Given the description of an element on the screen output the (x, y) to click on. 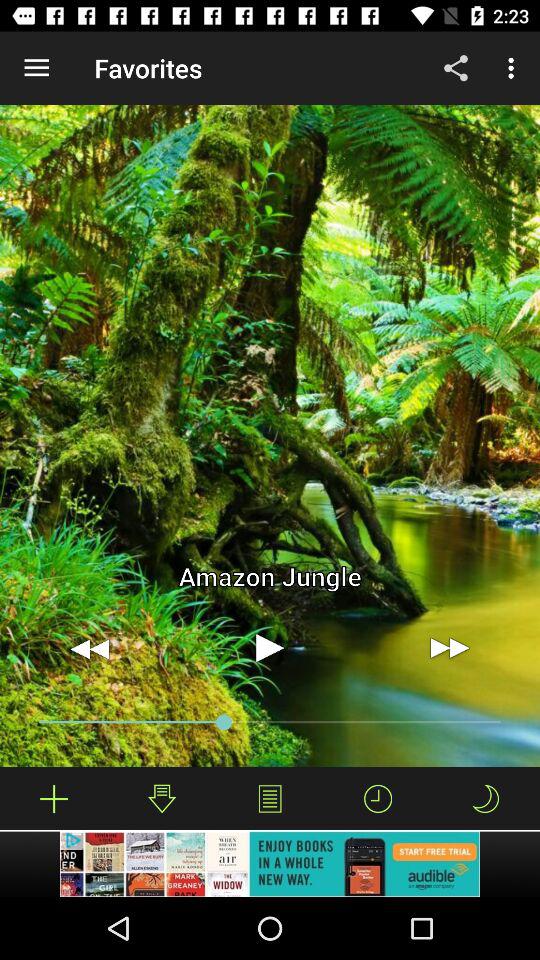
go back (90, 648)
